Given the description of an element on the screen output the (x, y) to click on. 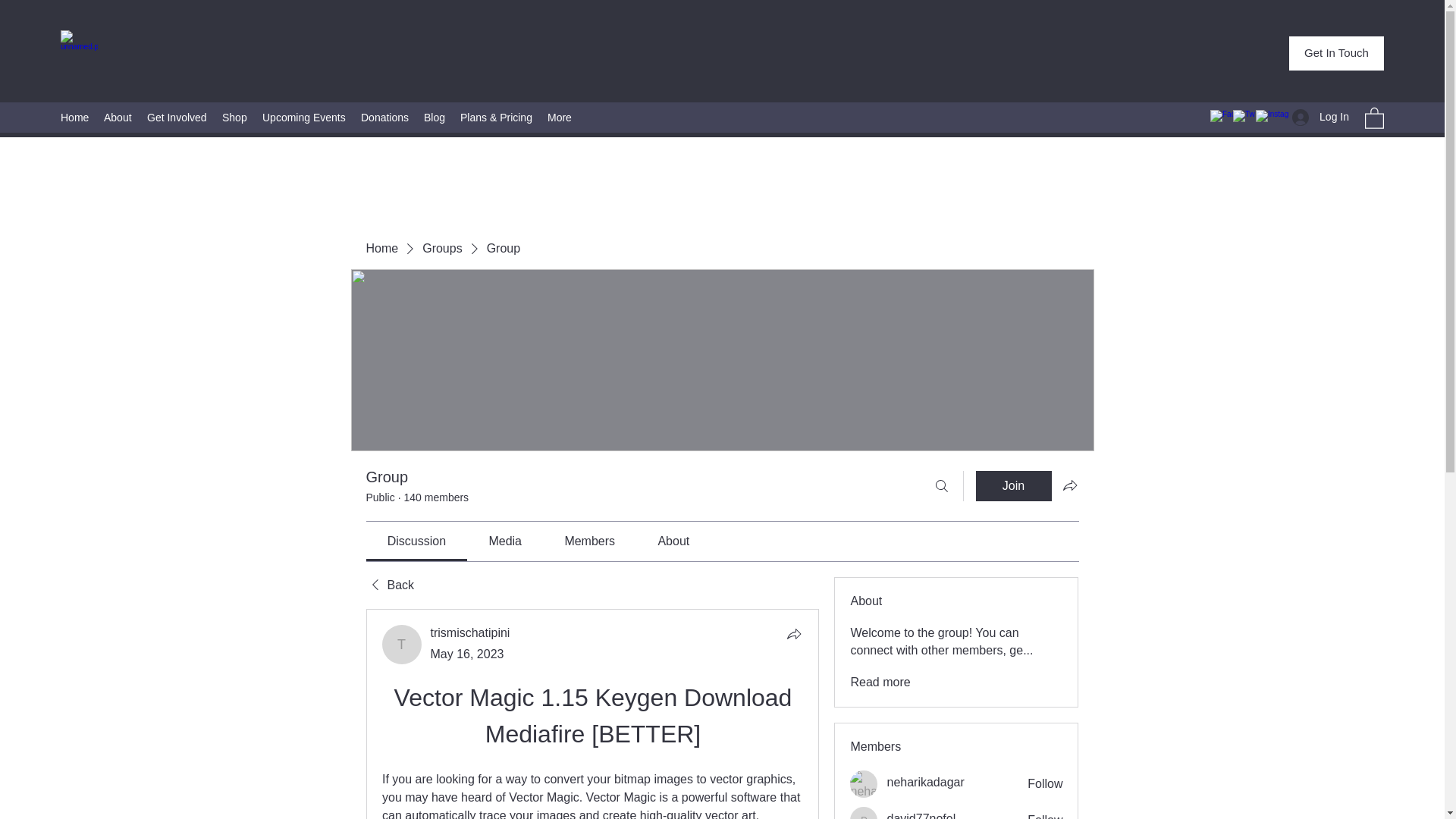
david77nofel (920, 814)
trismischatipini (470, 632)
Home (74, 117)
Blog (434, 117)
Join (1013, 485)
neharikadagar (863, 783)
trismischatipini (470, 632)
Get Involved (176, 117)
Shop (234, 117)
Groups (441, 248)
